Given the description of an element on the screen output the (x, y) to click on. 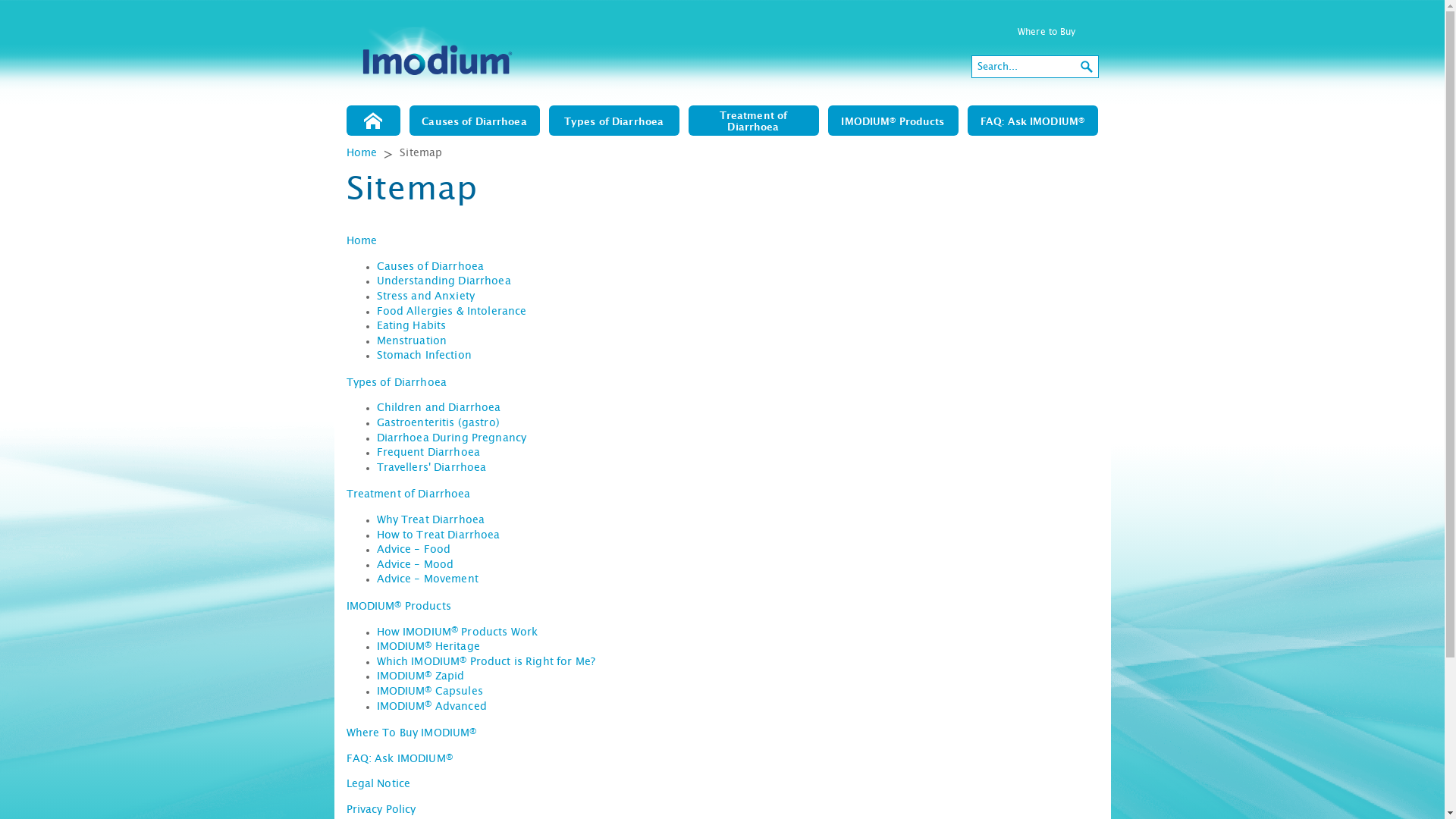
How to Treat Diarrhoea Element type: text (437, 535)
Eating Habits Element type: text (410, 325)
Understanding Diarrhoea Element type: text (443, 281)
Advice - Food Element type: text (413, 549)
Stomach Infection Element type: text (423, 355)
Types of Diarrhoea Element type: text (395, 382)
Travellers' Diarrhoea Element type: text (431, 467)
Menstruation Element type: text (411, 340)
Advice - Mood Element type: text (414, 564)
Types of Diarrhoea Element type: text (614, 120)
Stress and Anxiety Element type: text (425, 296)
Privacy Policy Element type: text (380, 809)
Where to Buy Element type: text (1046, 31)
Enter the terms you wish to search for. Element type: hover (1023, 67)
Search Element type: text (1086, 67)
Causes of Diarrhoea Element type: text (474, 120)
Treatment of Diarrhoea Element type: text (407, 494)
Food Allergies & Intolerance Element type: text (451, 311)
Gastroenteritis (gastro) Element type: text (437, 422)
Why Treat Diarrhoea Element type: text (430, 519)
Treatment of Diarrhoea Element type: text (753, 120)
Skip to main content Element type: text (51, 0)
Home Element type: text (362, 153)
Home Element type: text (372, 120)
Children and Diarrhoea Element type: text (438, 407)
Advice - Movement Element type: text (426, 579)
Frequent Diarrhoea Element type: text (428, 452)
Legal Notice Element type: text (377, 783)
Home Element type: text (360, 240)
Causes of Diarrhoea Element type: text (429, 266)
Diarrhoea During Pregnancy Element type: text (451, 438)
